Given the description of an element on the screen output the (x, y) to click on. 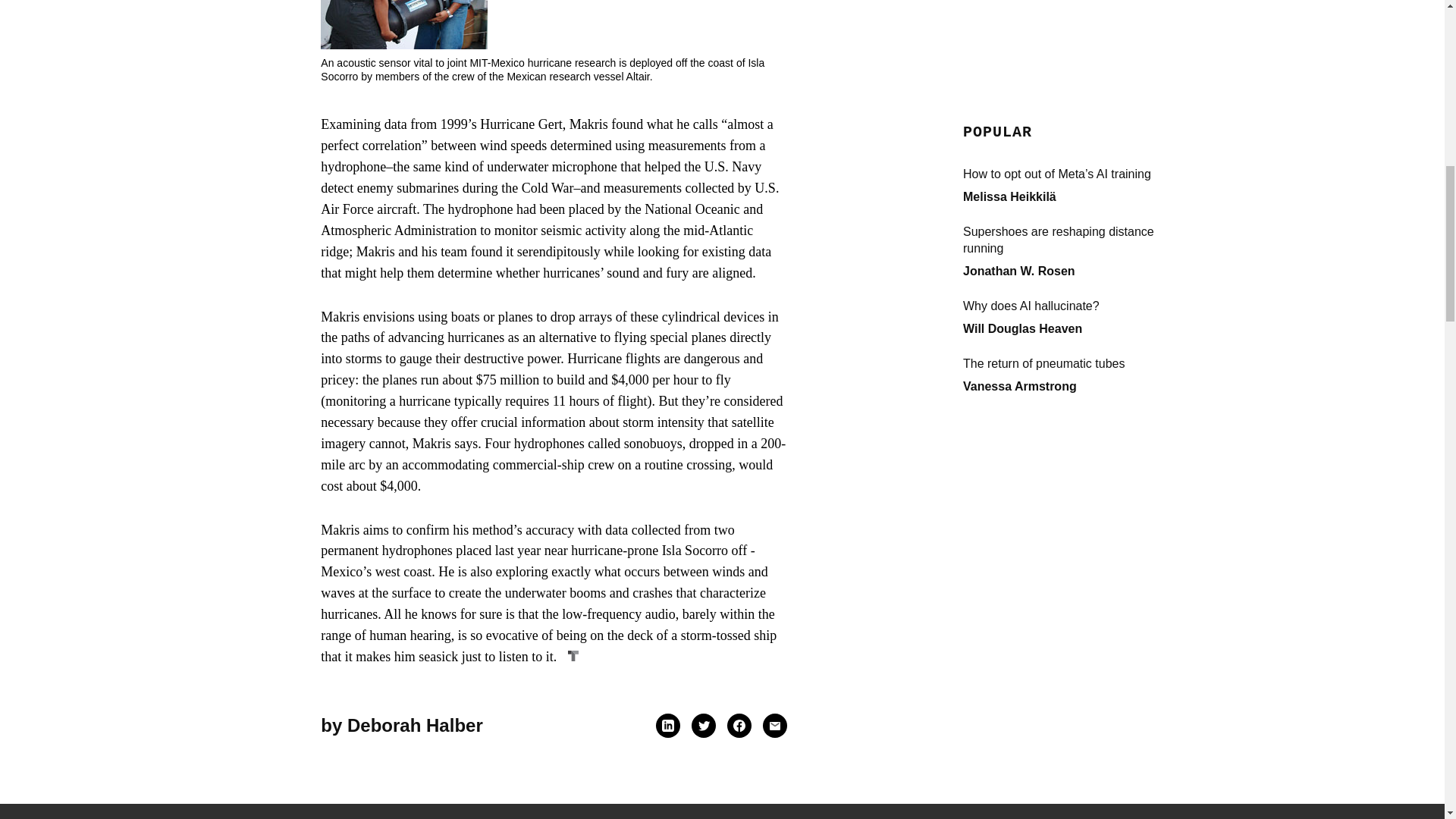
Share story on facebook (739, 725)
Deborah Halber (415, 724)
Share story on twitter (703, 725)
Share story on email (774, 725)
Share story on linkedin (668, 725)
The return of pneumatic tubes (1075, 28)
Vanessa Armstrong (1019, 51)
